Given the description of an element on the screen output the (x, y) to click on. 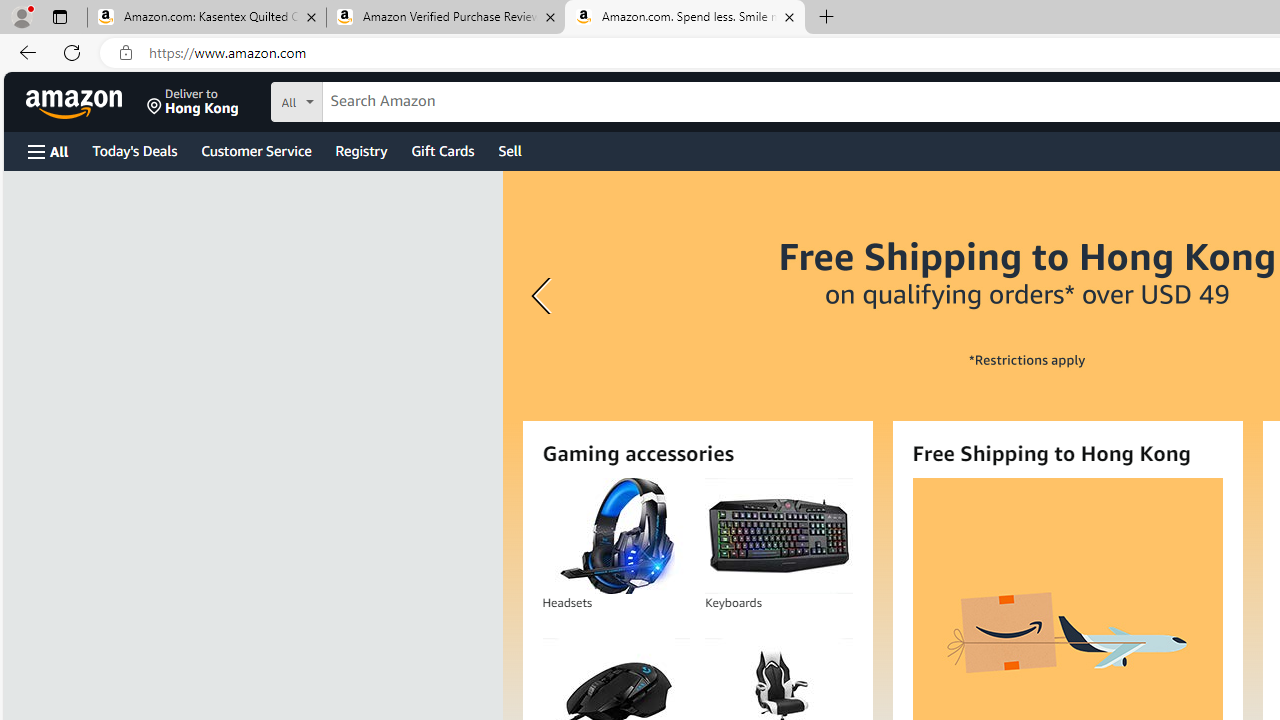
Gift Cards (442, 150)
Skip to main content (86, 100)
Open Menu (48, 151)
Keyboards (778, 536)
Deliver to Hong Kong (193, 101)
Sell (509, 150)
Headsets (615, 536)
Amazon Verified Purchase Reviews - Amazon Customer Service (445, 17)
